Given the description of an element on the screen output the (x, y) to click on. 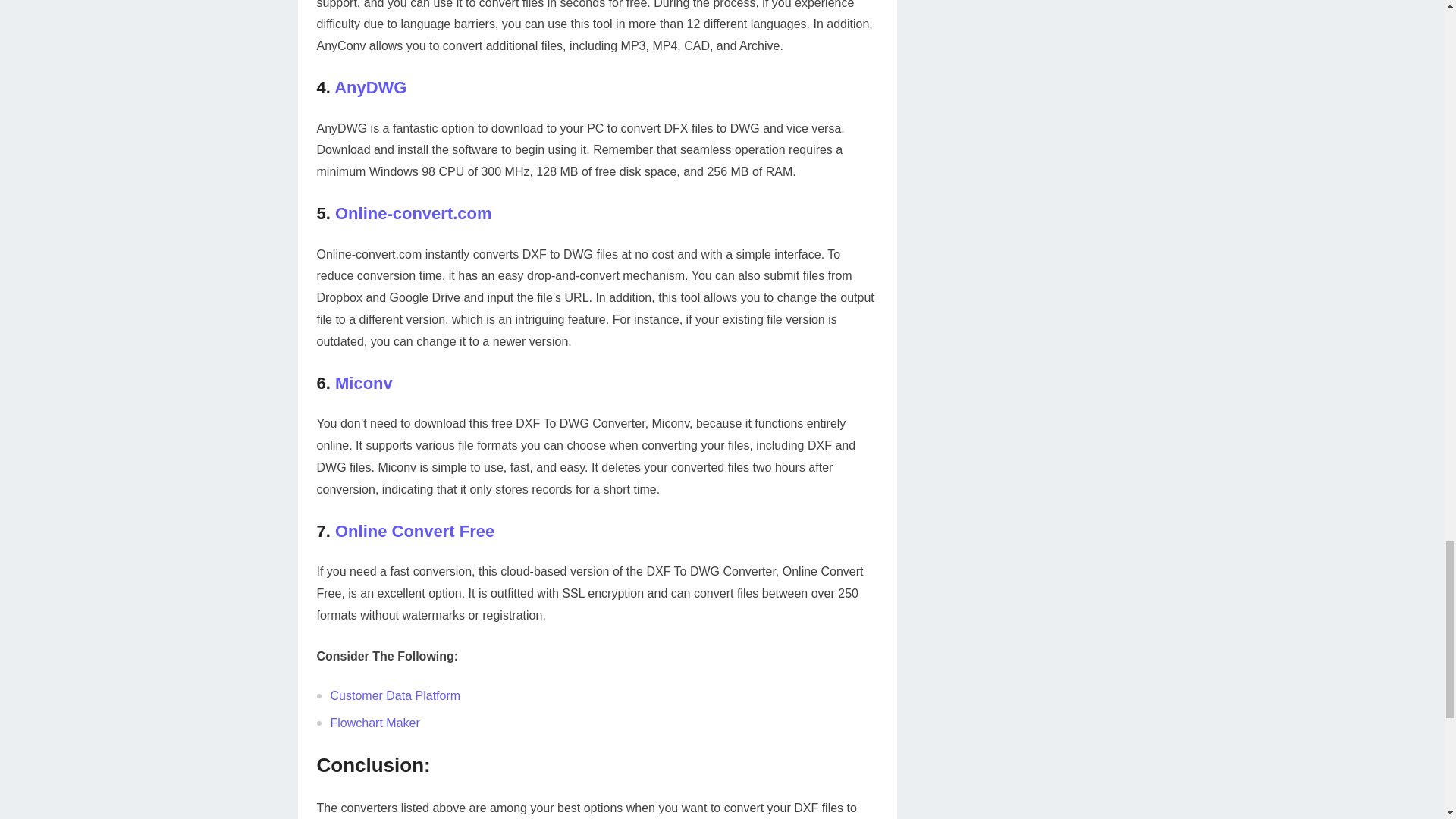
Online-convert.com (413, 212)
AnyDWG (370, 87)
Flowchart Maker (375, 722)
Online Convert Free (414, 530)
Customer Data Platform (395, 695)
Miconv (363, 383)
